Given the description of an element on the screen output the (x, y) to click on. 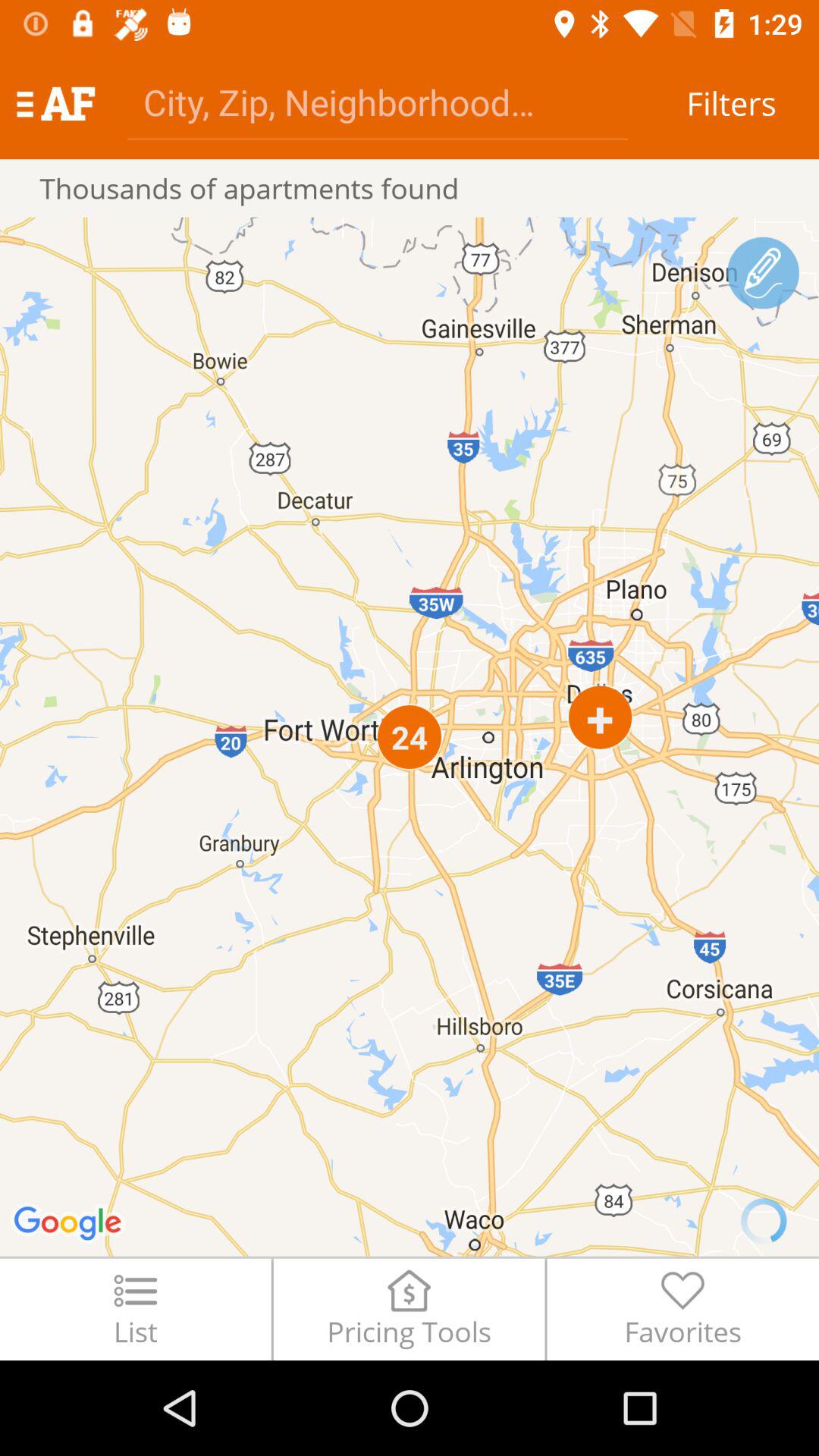
enter city/address/zip (377, 102)
